Given the description of an element on the screen output the (x, y) to click on. 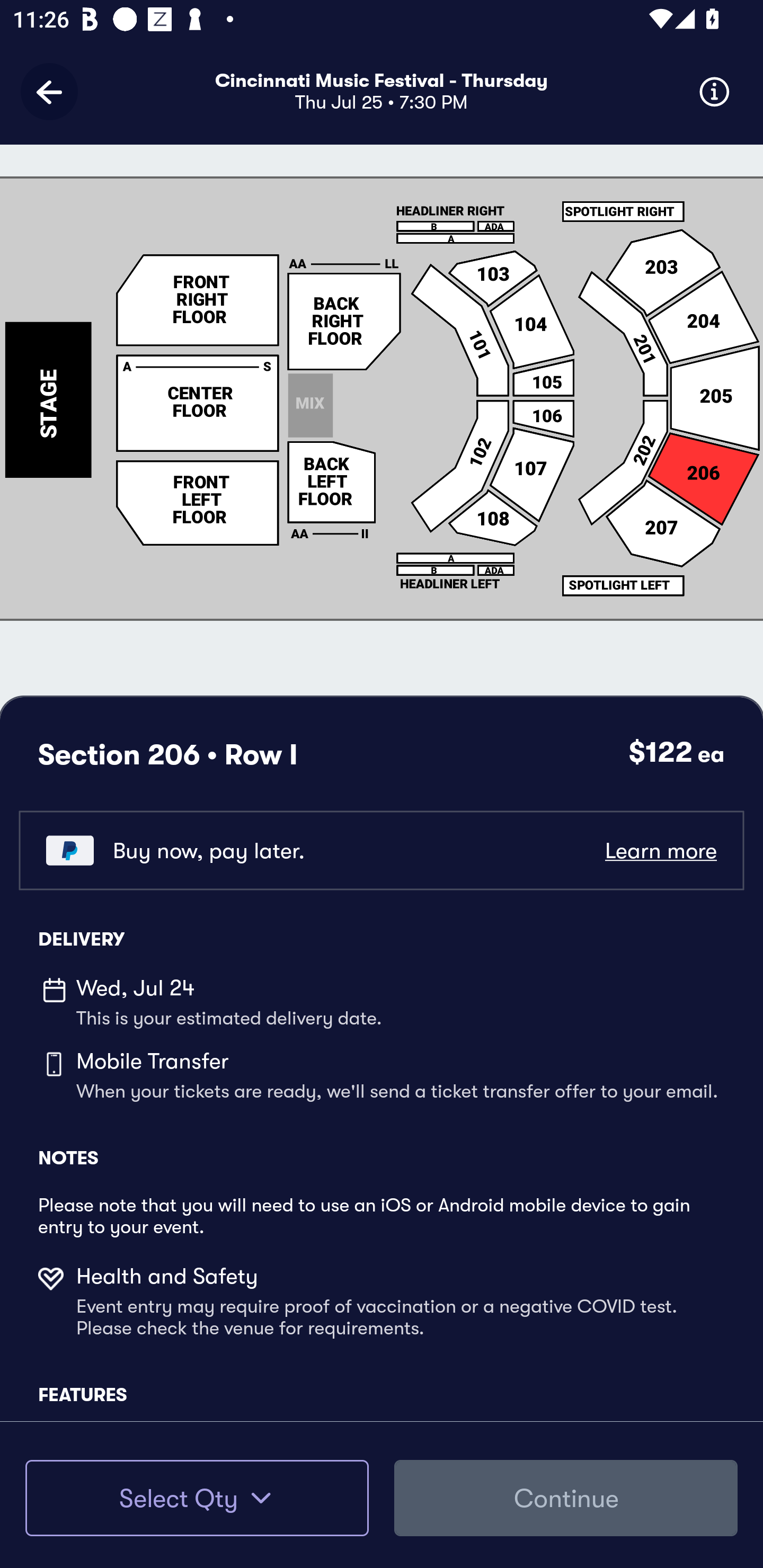
Learn more (660, 850)
Select Qty (196, 1497)
Continue (565, 1497)
